Given the description of an element on the screen output the (x, y) to click on. 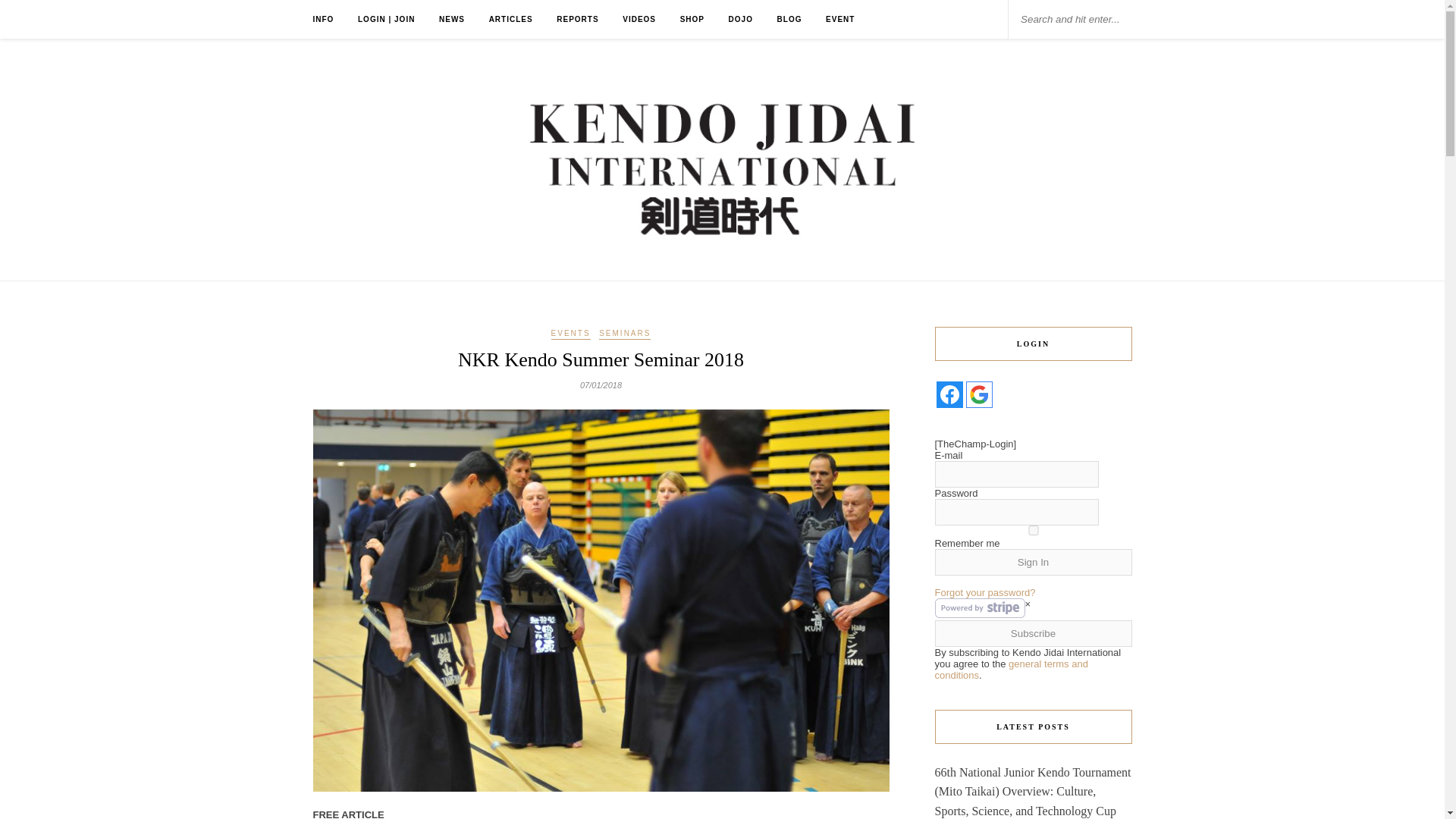
ARTICLES (510, 19)
forever (1032, 530)
View all posts in Seminars (624, 334)
Sign In (1032, 561)
Login with Google (979, 394)
Subscribe (1032, 633)
EVENTS (571, 334)
Login with Facebook (949, 394)
SEMINARS (624, 334)
View all posts in EVENTS (571, 334)
